Given the description of an element on the screen output the (x, y) to click on. 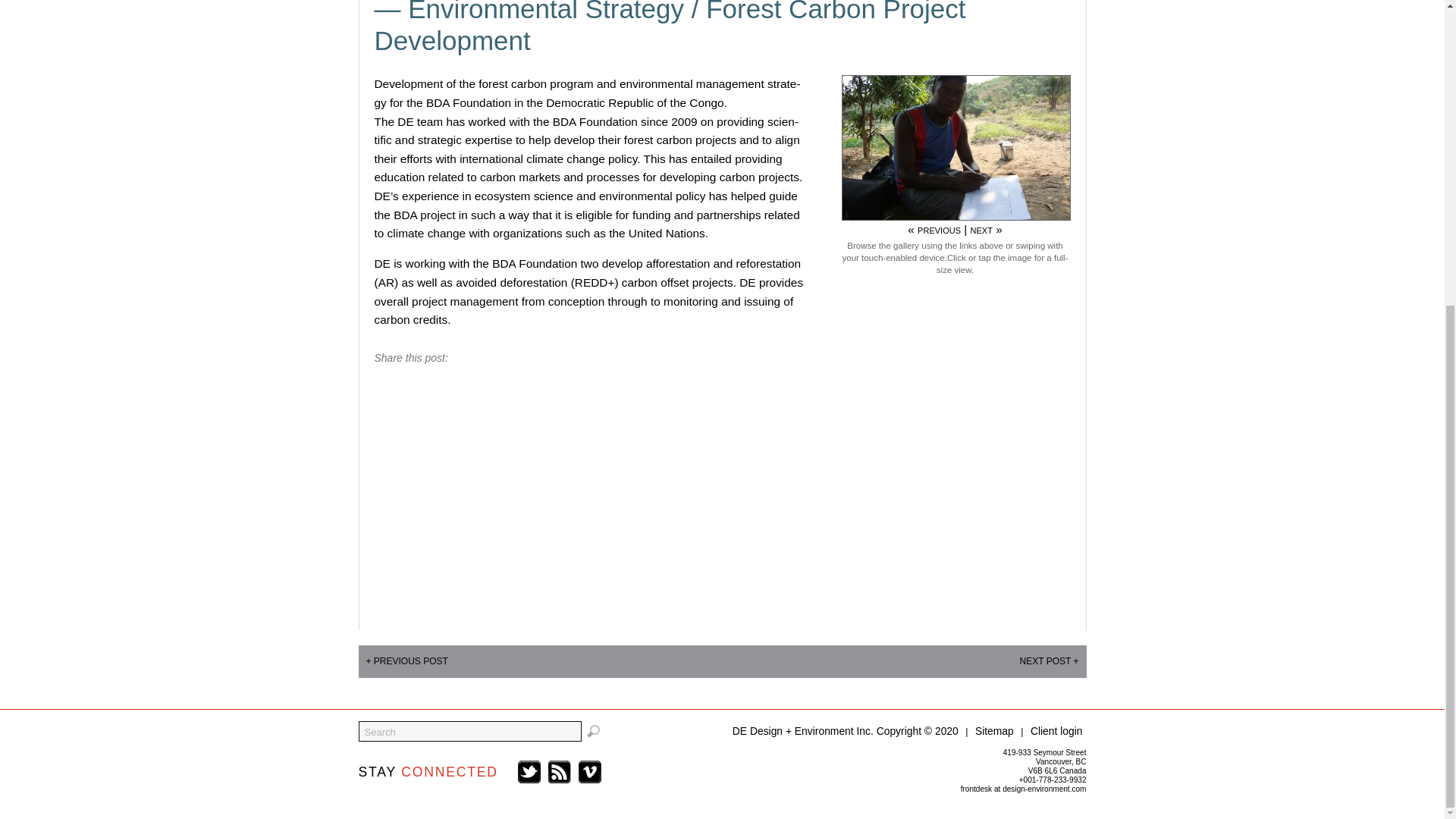
Search (469, 731)
Search (469, 731)
Client login (1056, 730)
Sitemap (994, 730)
